Given the description of an element on the screen output the (x, y) to click on. 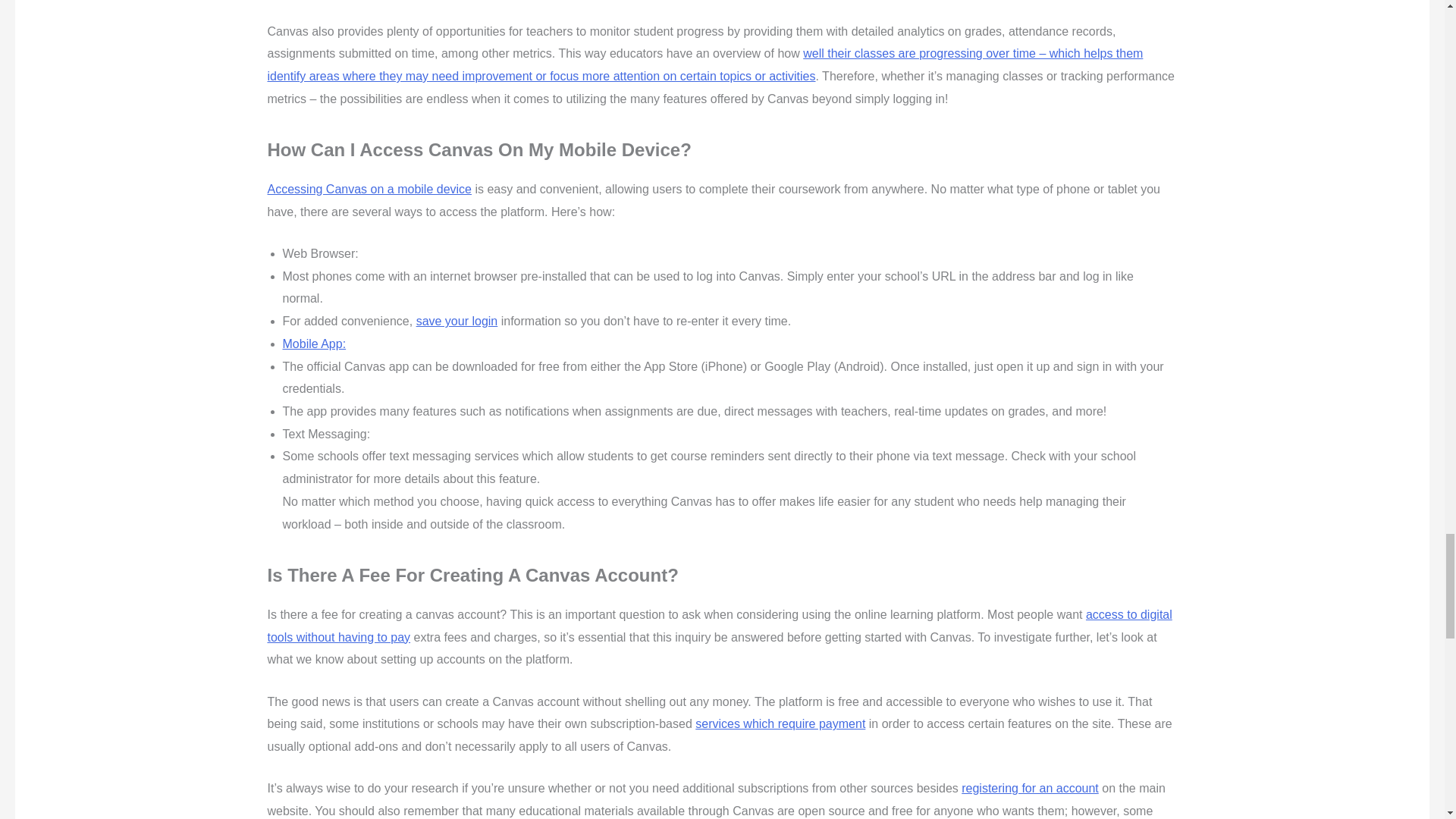
Accessing Canvas on a mobile device (368, 188)
